Given the description of an element on the screen output the (x, y) to click on. 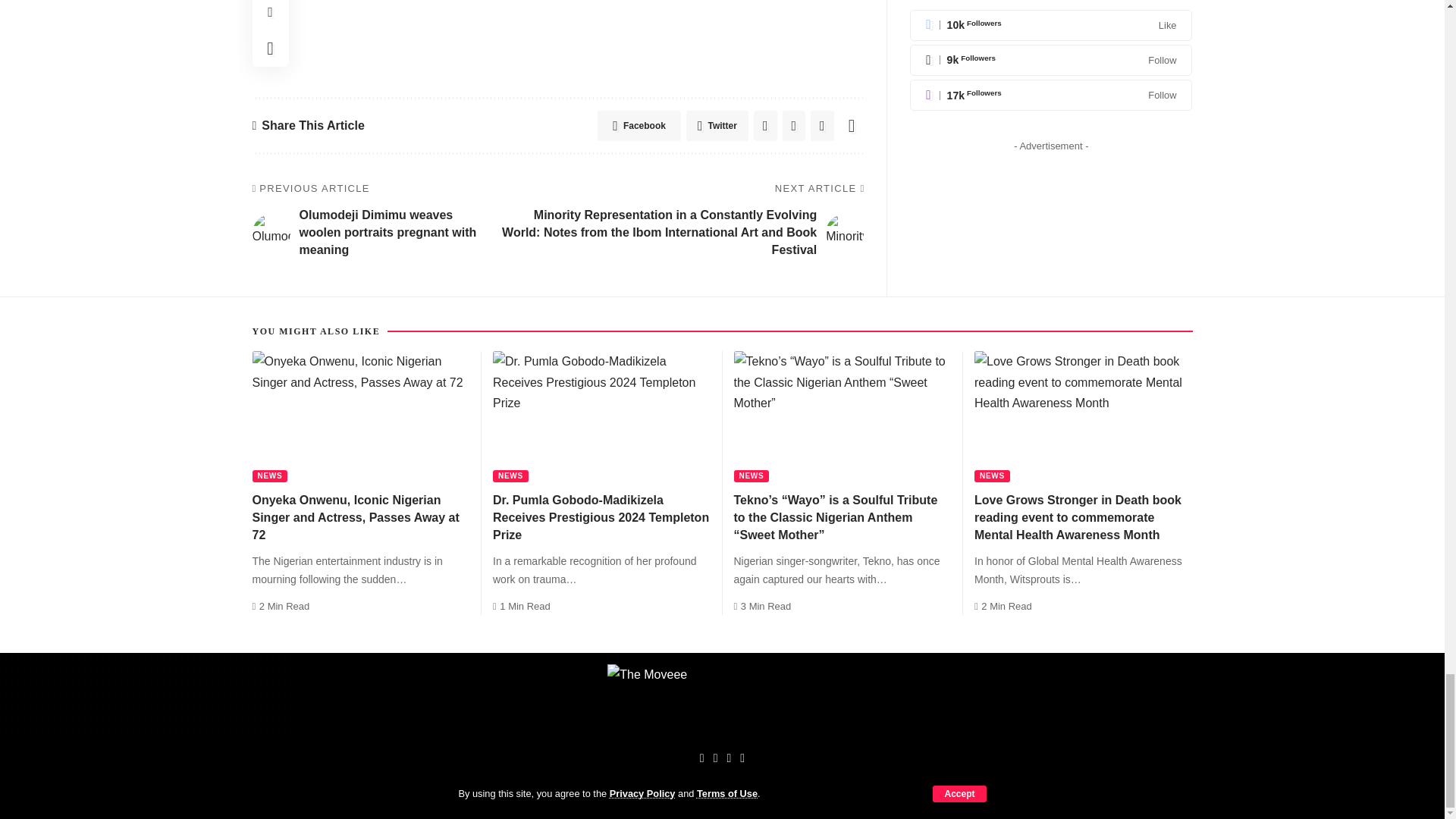
Facebook (638, 125)
Twitter (716, 125)
The Moveee (722, 702)
